Given the description of an element on the screen output the (x, y) to click on. 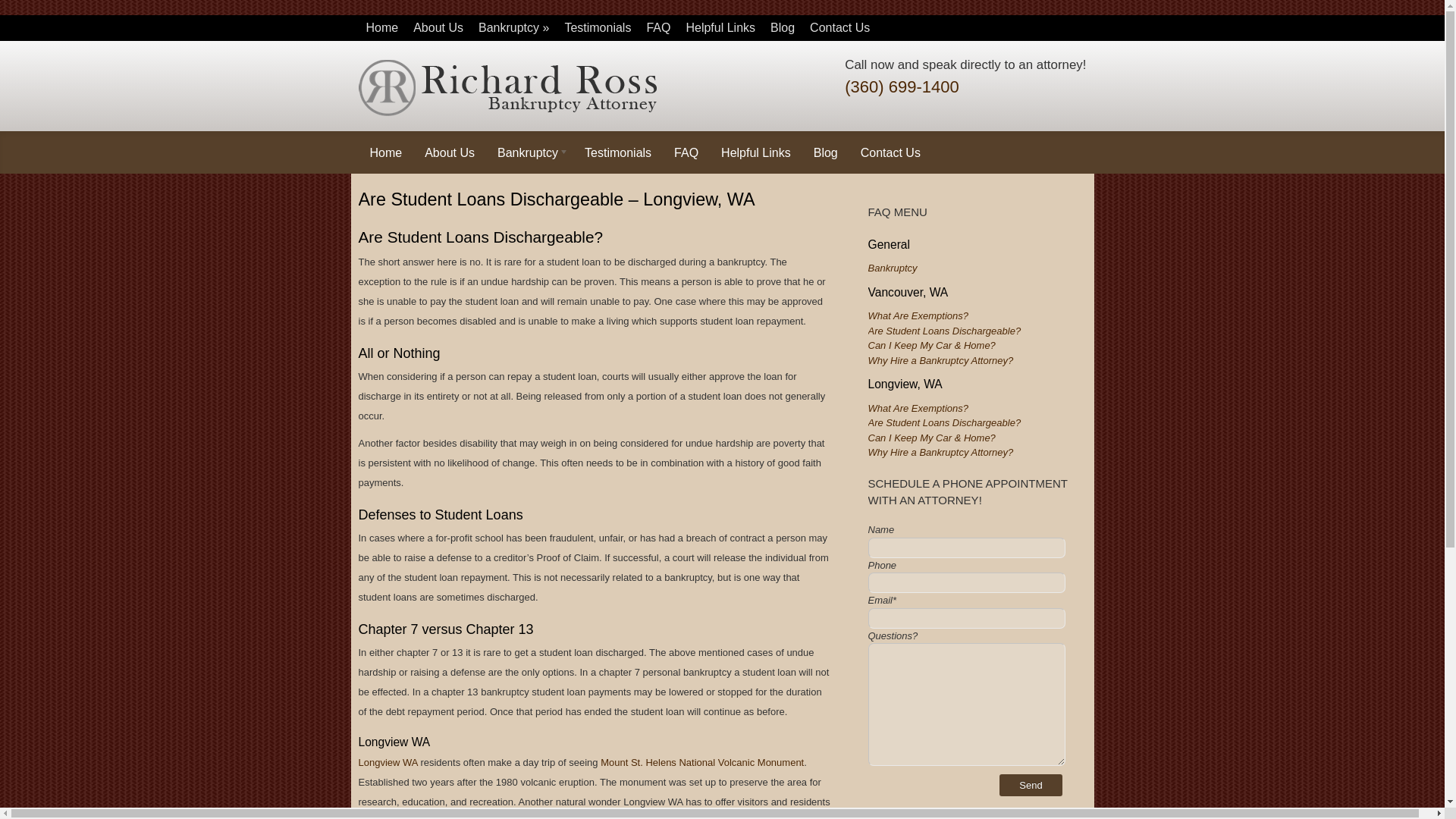
Are Student Loans Dischargeable? (943, 330)
FAQ (686, 151)
Blog (825, 151)
Testimonials (597, 27)
 Bankruptcy Helpful Links (720, 27)
Why Hire a Bankruptcy Attorney? (940, 451)
About Us (449, 151)
Bankruptcy Attorney Testimonials (597, 27)
About Richard Ross Bankruptcy Attorney Vancouver, WA (438, 27)
Are Student Loans Dischargeable? (943, 422)
